Given the description of an element on the screen output the (x, y) to click on. 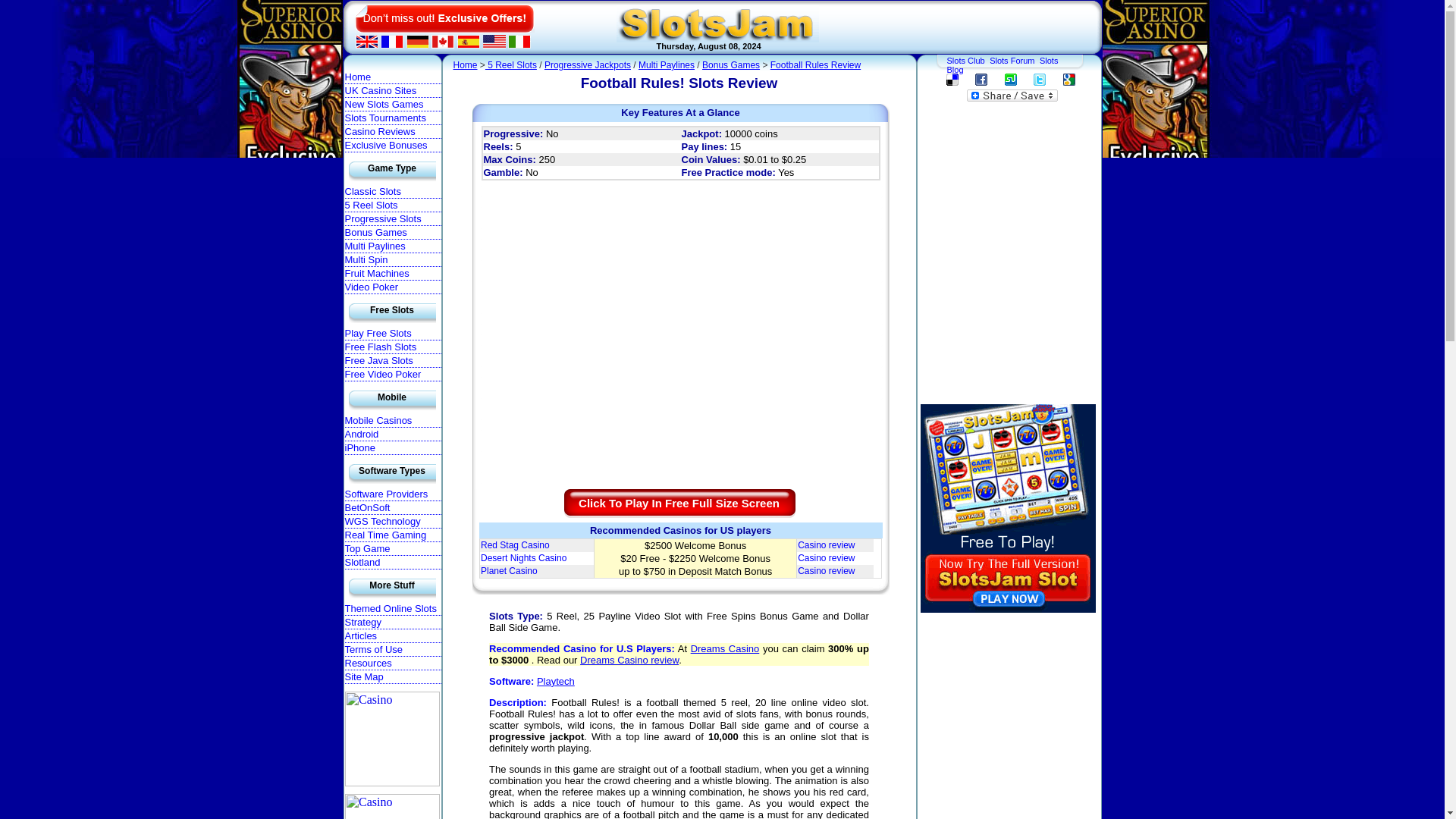
UK Casino Sites (392, 90)
Fruit Machines (392, 273)
Software Providers (392, 494)
Real Time Gaming (392, 535)
BetOnSoft (392, 508)
5 Reel Slots (392, 205)
Video Poker (392, 287)
Themed Online Slots (392, 608)
Classic Slots (392, 192)
Articles (392, 635)
